Given the description of an element on the screen output the (x, y) to click on. 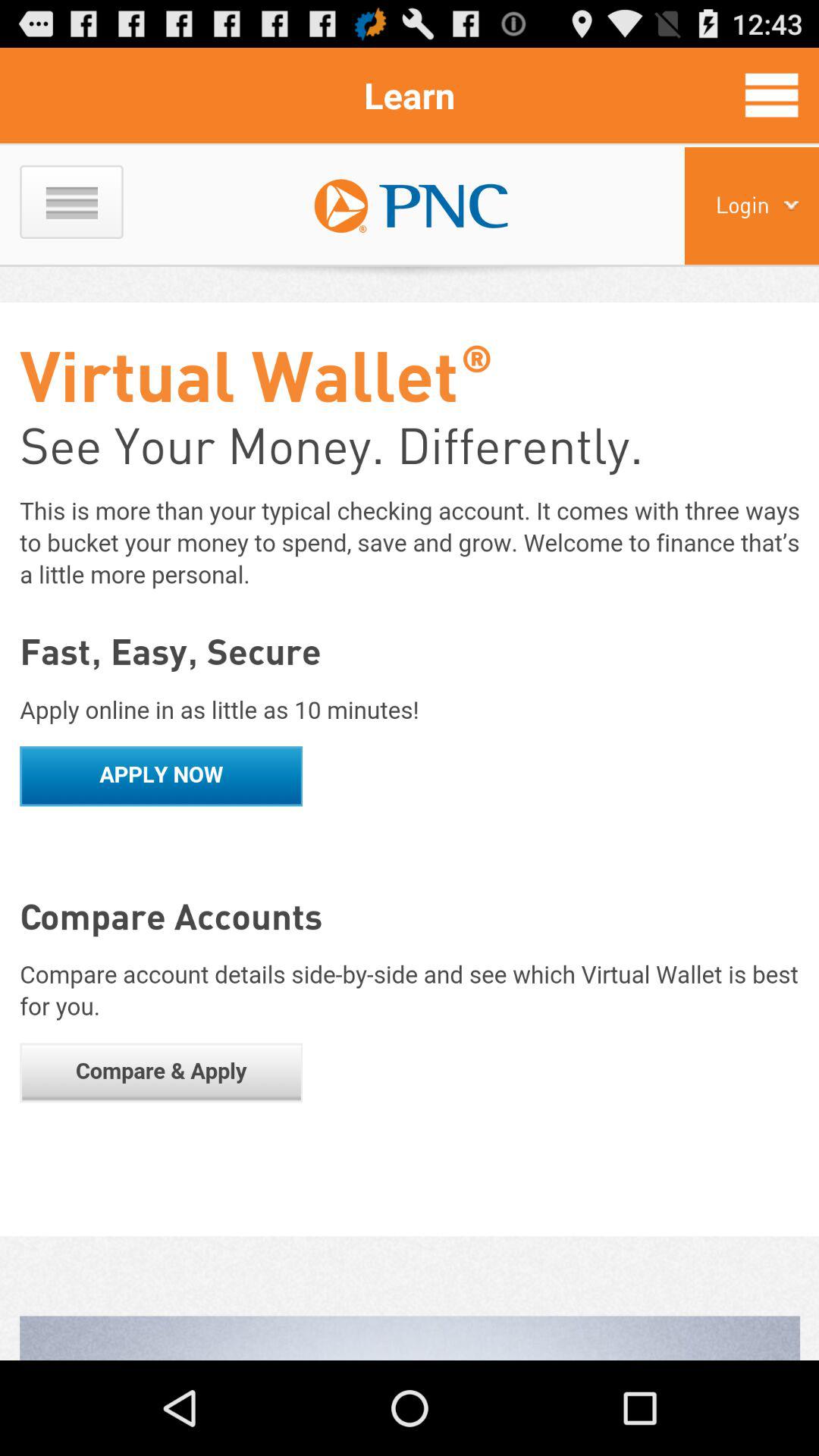
navigation menu (771, 95)
